Given the description of an element on the screen output the (x, y) to click on. 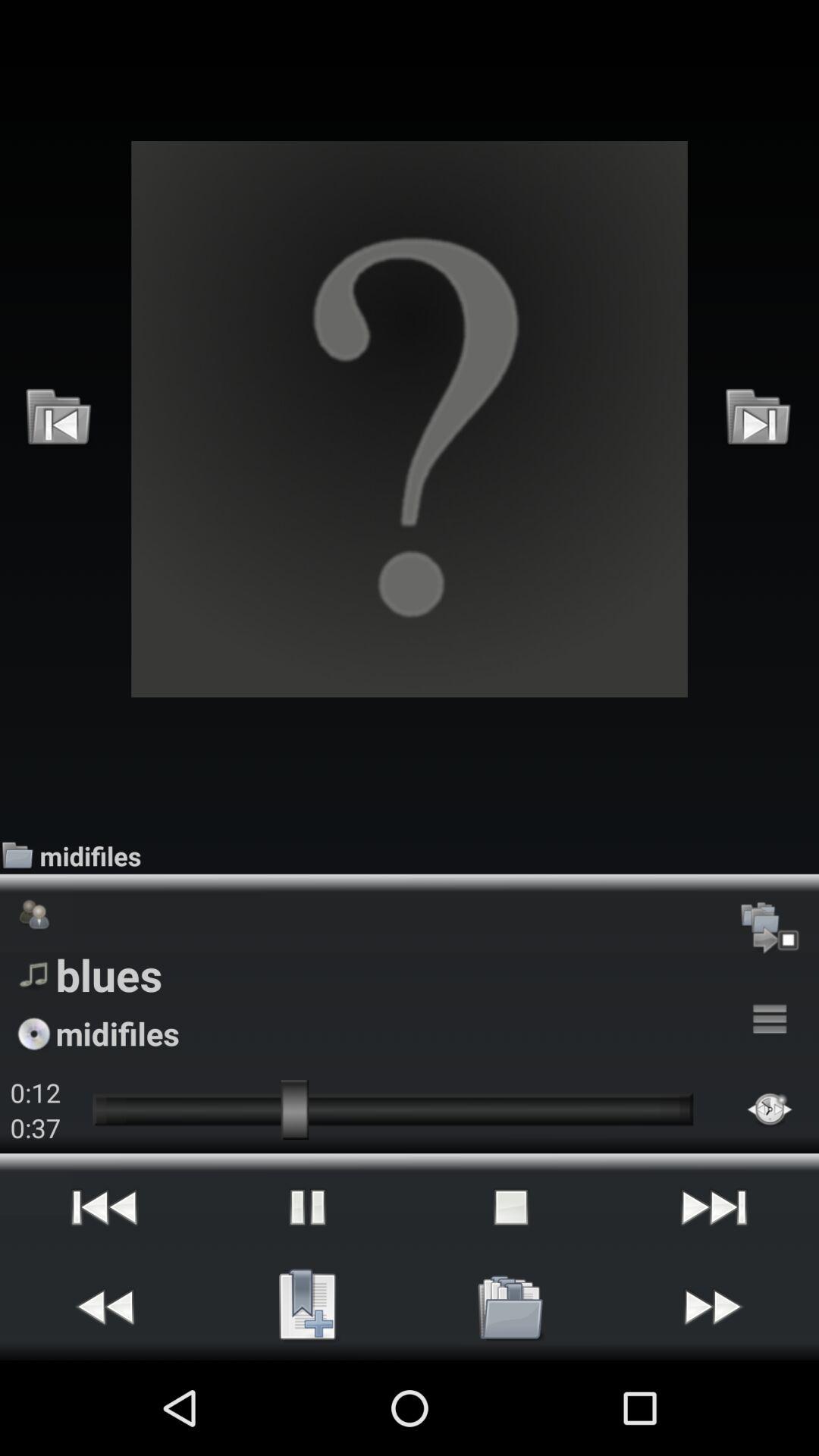
open the item below the 0:37 icon (104, 1206)
